Given the description of an element on the screen output the (x, y) to click on. 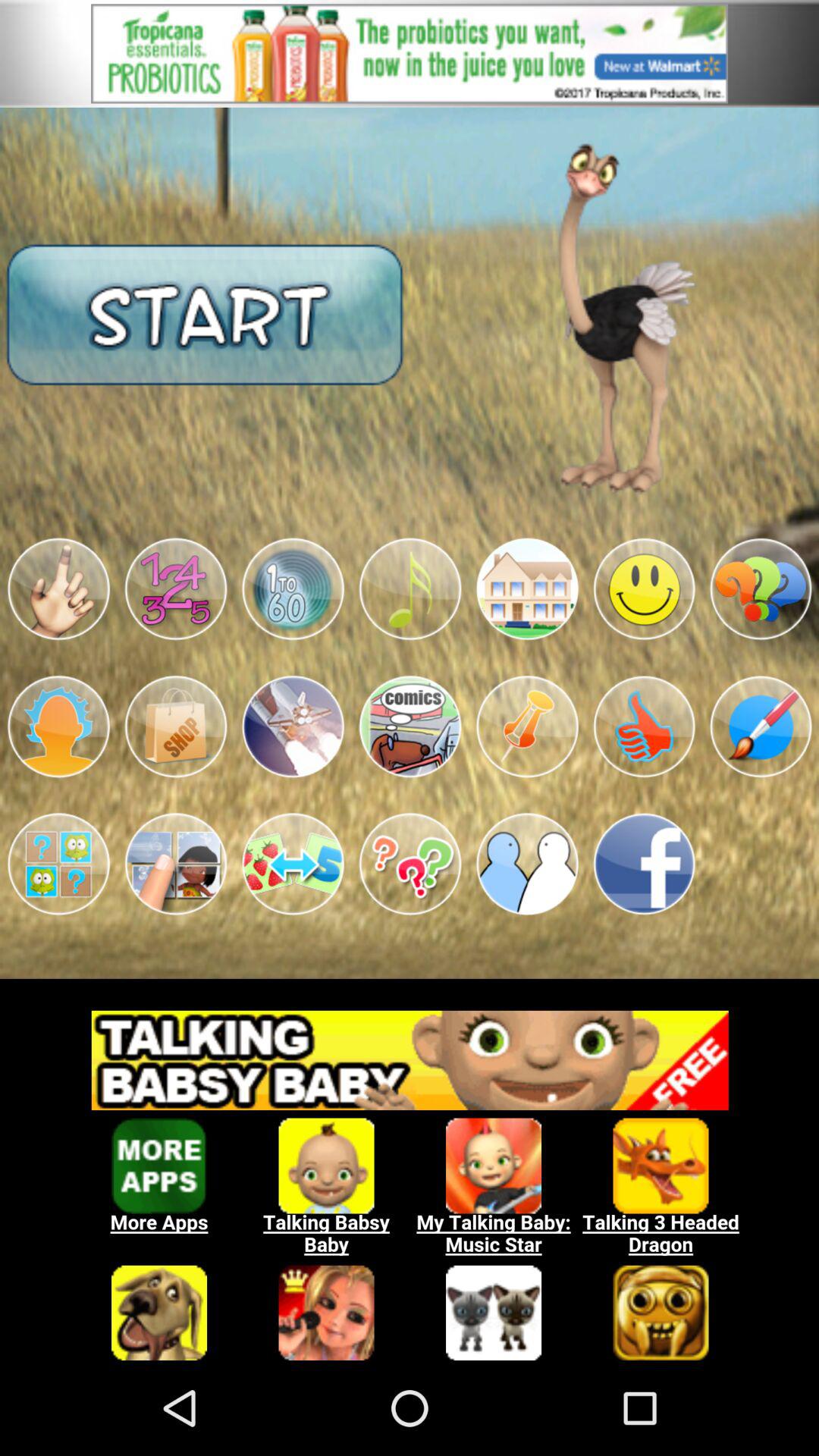
shows brush icon (760, 726)
